Given the description of an element on the screen output the (x, y) to click on. 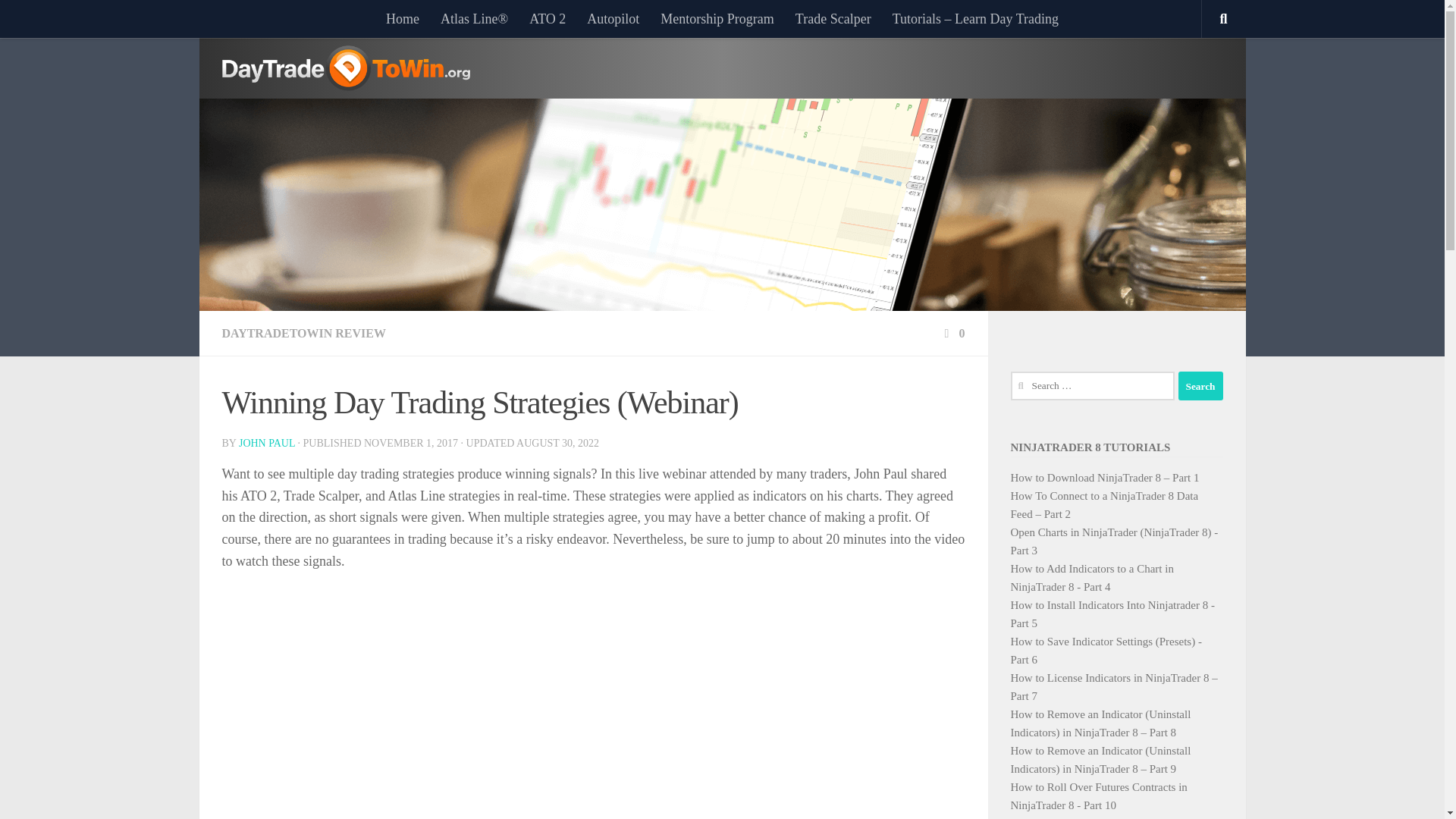
0 (951, 332)
Posts by John Paul (266, 442)
Autopilot (612, 18)
Mentorship Program (716, 18)
Search (1200, 385)
Trade Scalper (833, 18)
Home (402, 18)
DAYTRADETOWIN REVIEW (303, 332)
ATO 2 (547, 18)
